Given the description of an element on the screen output the (x, y) to click on. 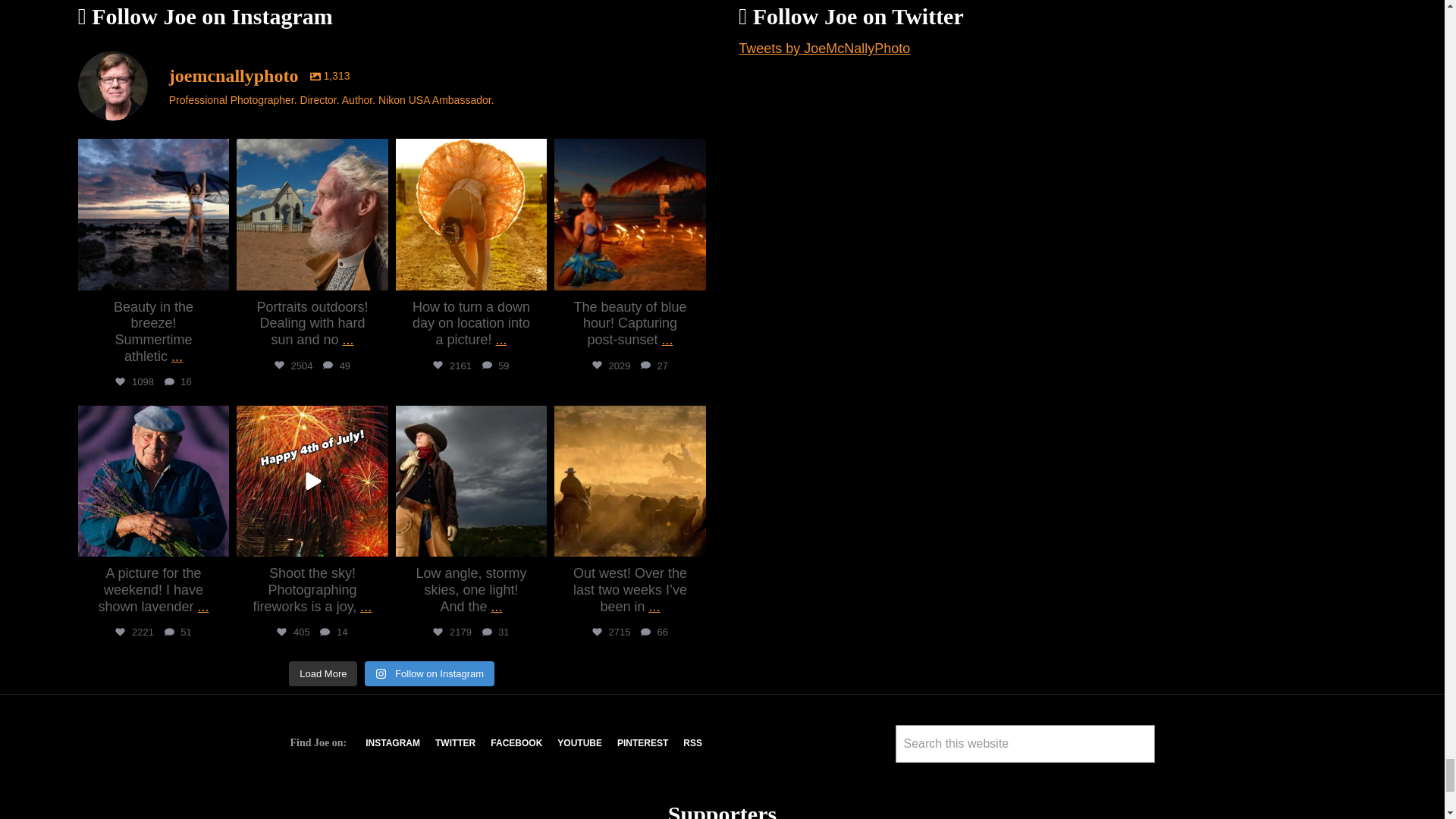
Search (913, 776)
Search (913, 776)
Follow Joe on Twitter (455, 742)
Follow Joe on Instagram (392, 742)
Become a fan of Joe on Facebook (515, 742)
